Given the description of an element on the screen output the (x, y) to click on. 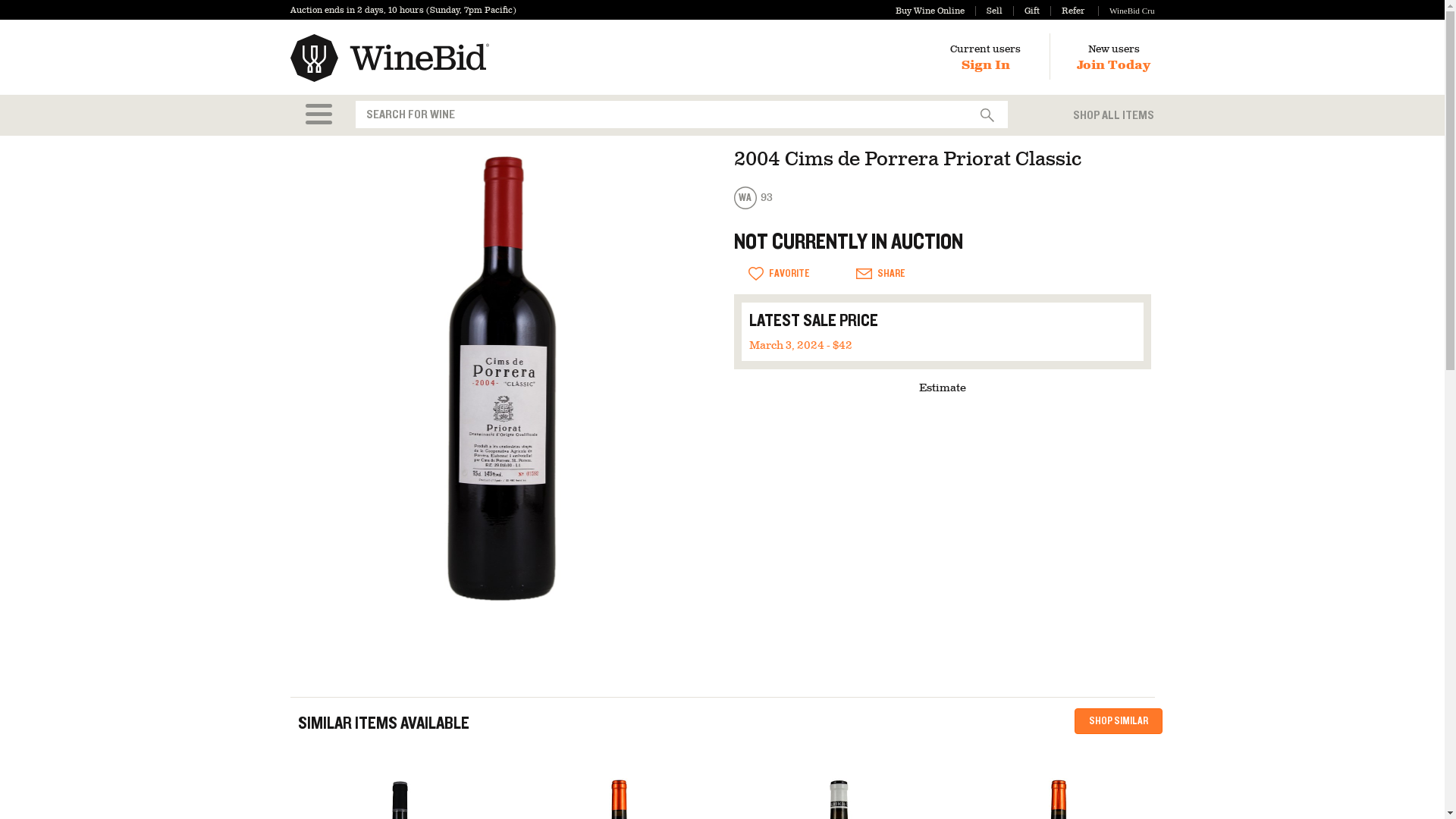
Join Today (1113, 64)
Sign In (985, 64)
Sell (989, 10)
Gift (1026, 10)
Buy Wine Online (929, 10)
WineBid Cru (1125, 10)
Refer (1066, 10)
